Given the description of an element on the screen output the (x, y) to click on. 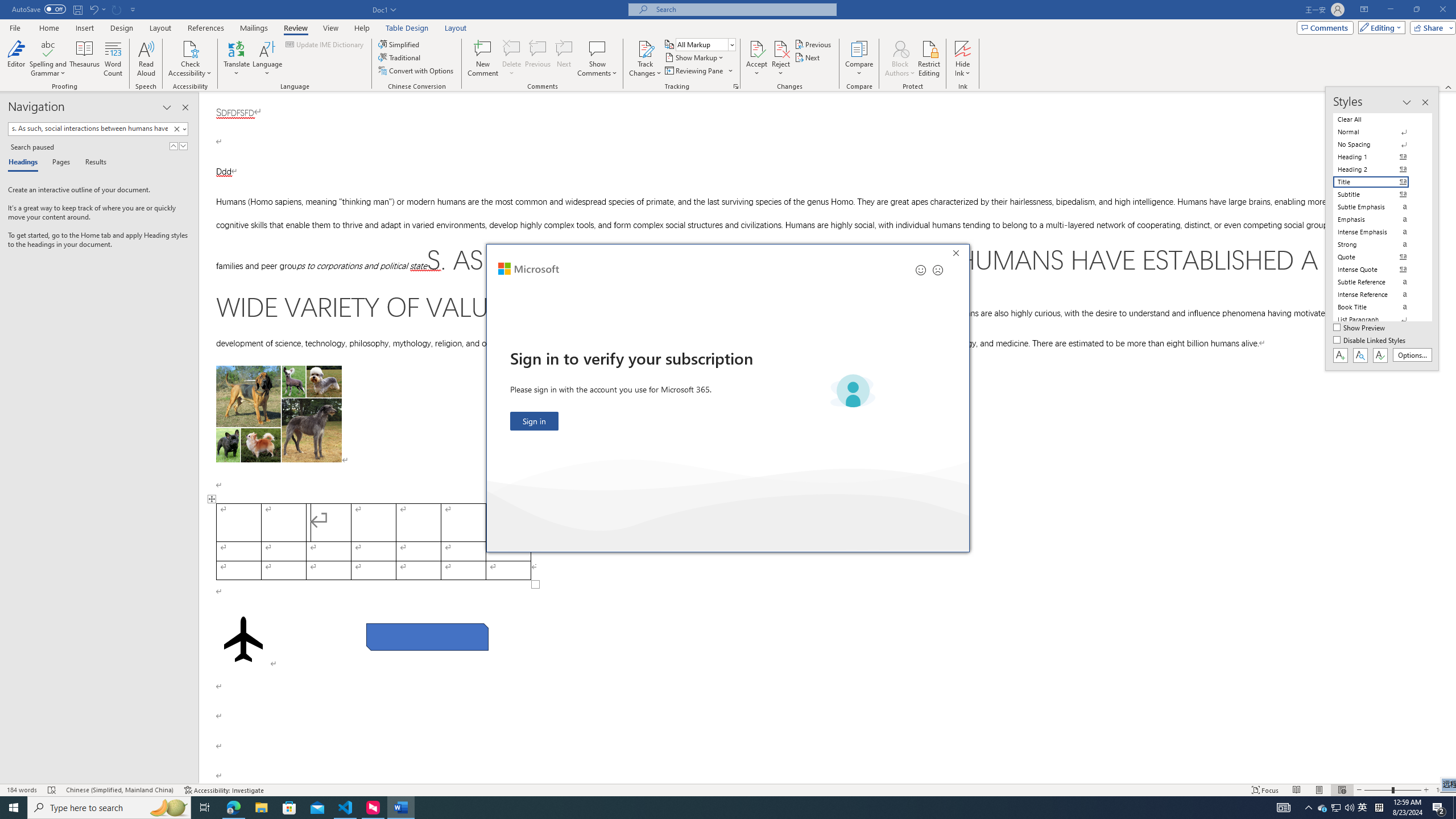
Word - 1 running window (400, 807)
Track Changes (644, 58)
Convert with Options... (417, 69)
Compare (859, 58)
Class: NetUIButton (1380, 355)
Sign in (534, 420)
